Given the description of an element on the screen output the (x, y) to click on. 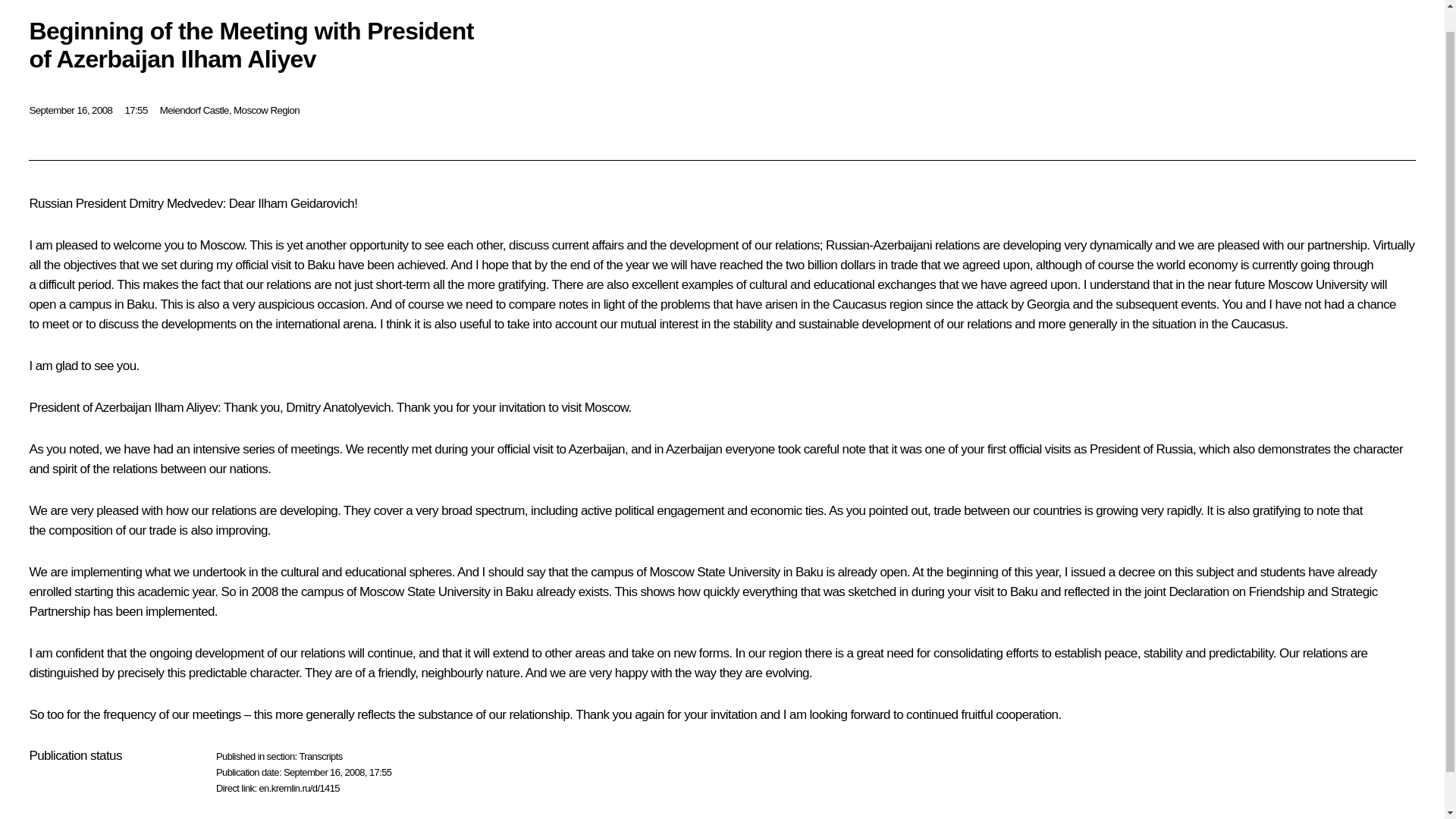
Transcripts (320, 756)
